Given the description of an element on the screen output the (x, y) to click on. 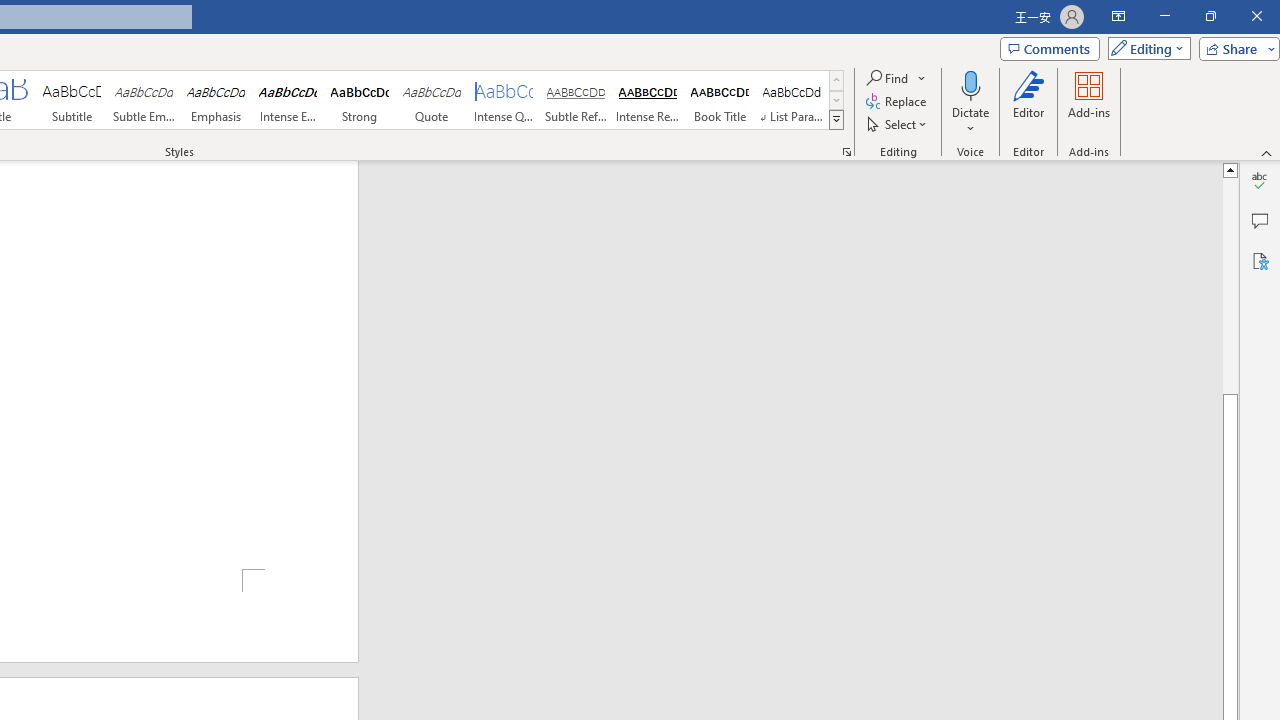
Page up (1230, 285)
Select (898, 124)
Line up (1230, 169)
Quote (431, 100)
Intense Emphasis (287, 100)
Styles (836, 120)
Book Title (719, 100)
Subtitle (71, 100)
